Given the description of an element on the screen output the (x, y) to click on. 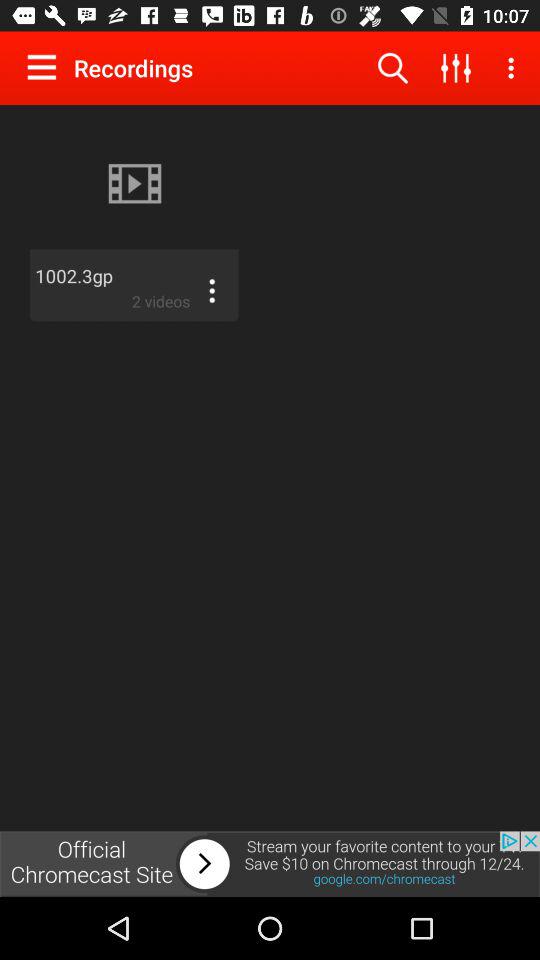
go to the advertisement page (270, 864)
